Given the description of an element on the screen output the (x, y) to click on. 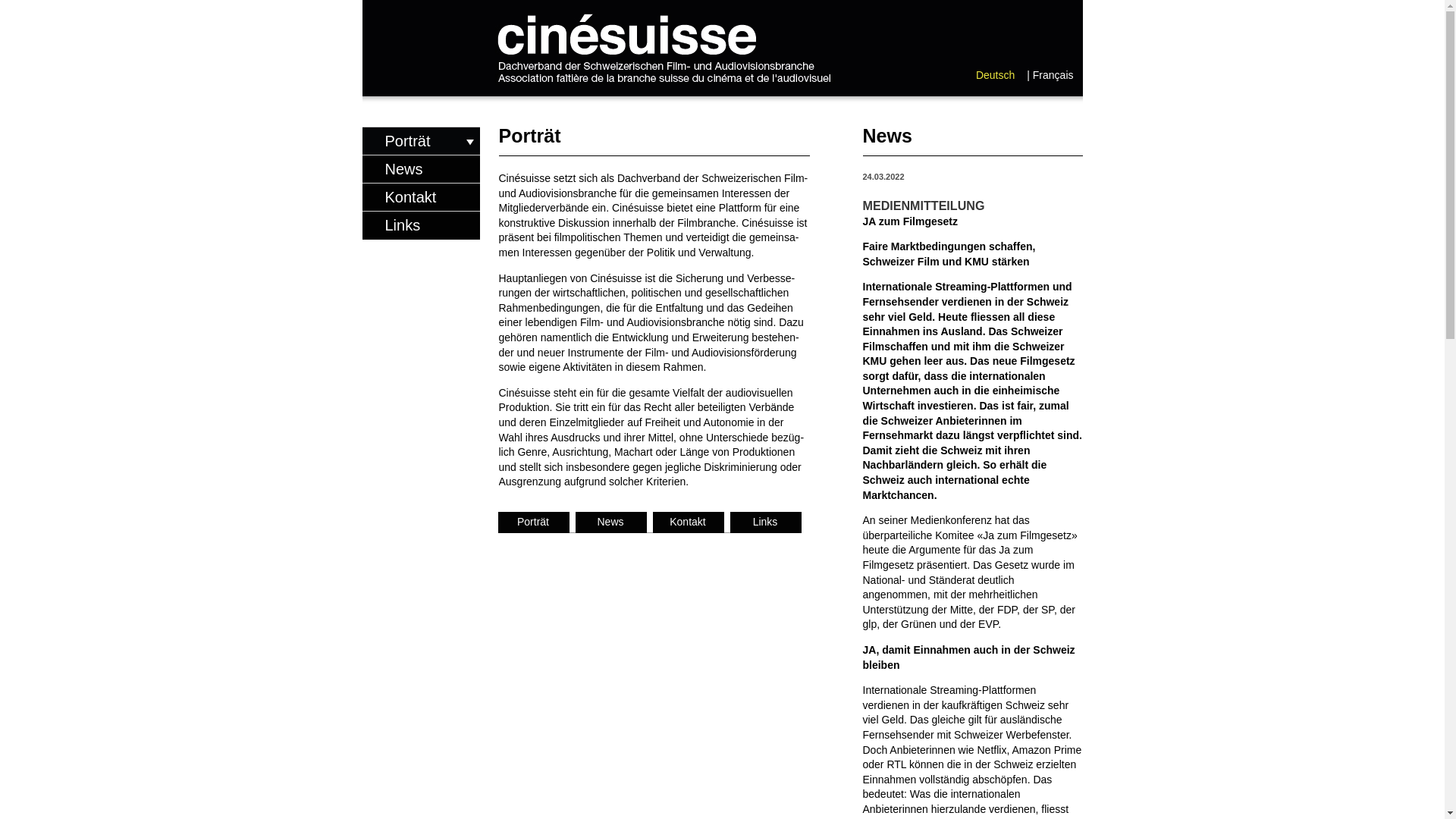
Links Element type: text (421, 224)
Links Element type: text (762, 522)
News Element type: text (607, 522)
  Element type: text (627, 6)
Deutsch Element type: text (994, 75)
Kontakt Element type: text (421, 196)
Kontakt Element type: text (685, 522)
News Element type: text (421, 168)
